Given the description of an element on the screen output the (x, y) to click on. 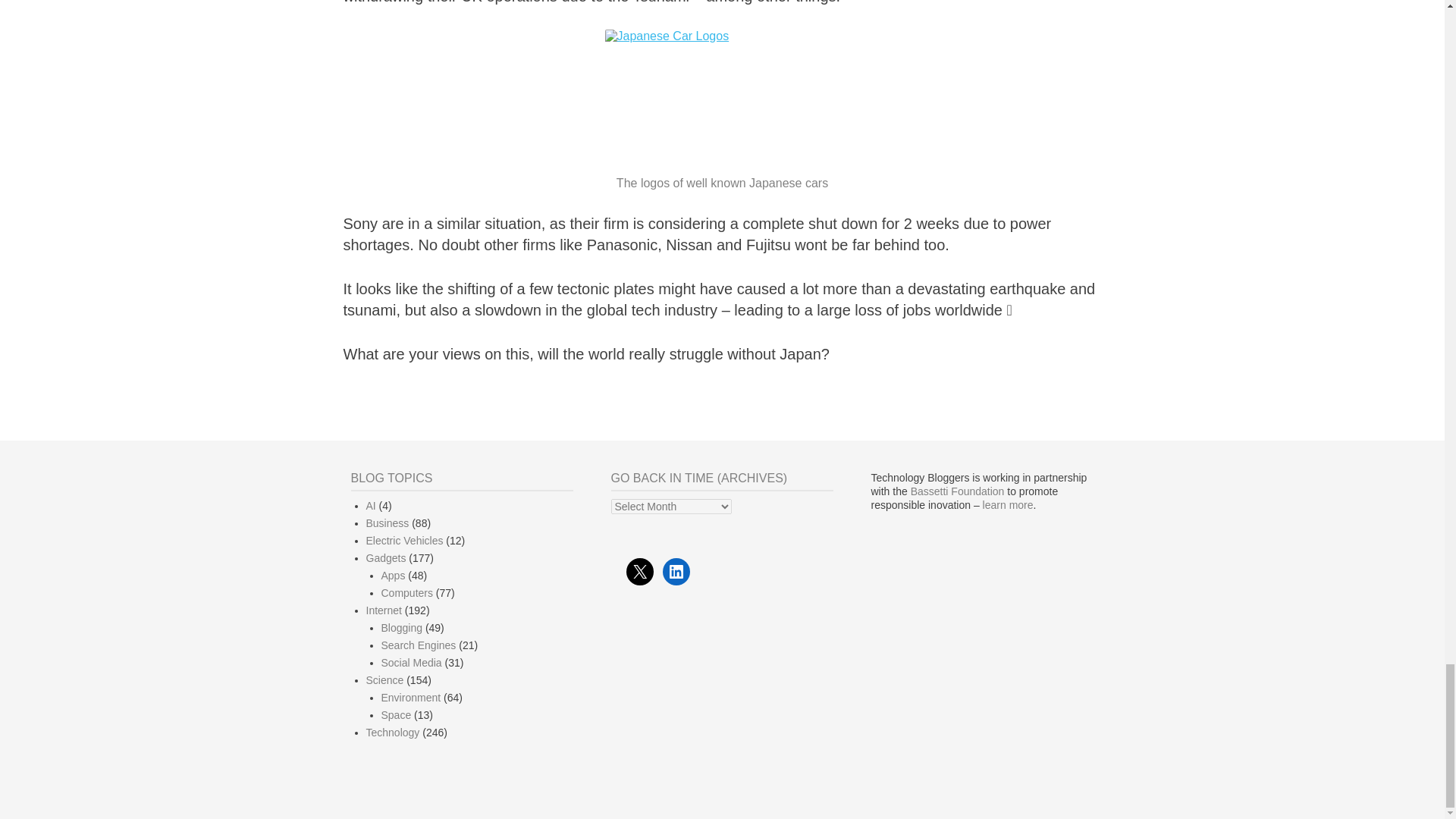
Search Engines (417, 645)
Gadgets (385, 558)
Apps (392, 575)
Internet (383, 610)
Social Media (410, 662)
Business (387, 522)
Electric Vehicles (403, 540)
Computers (406, 592)
Blogging (401, 627)
